Given the description of an element on the screen output the (x, y) to click on. 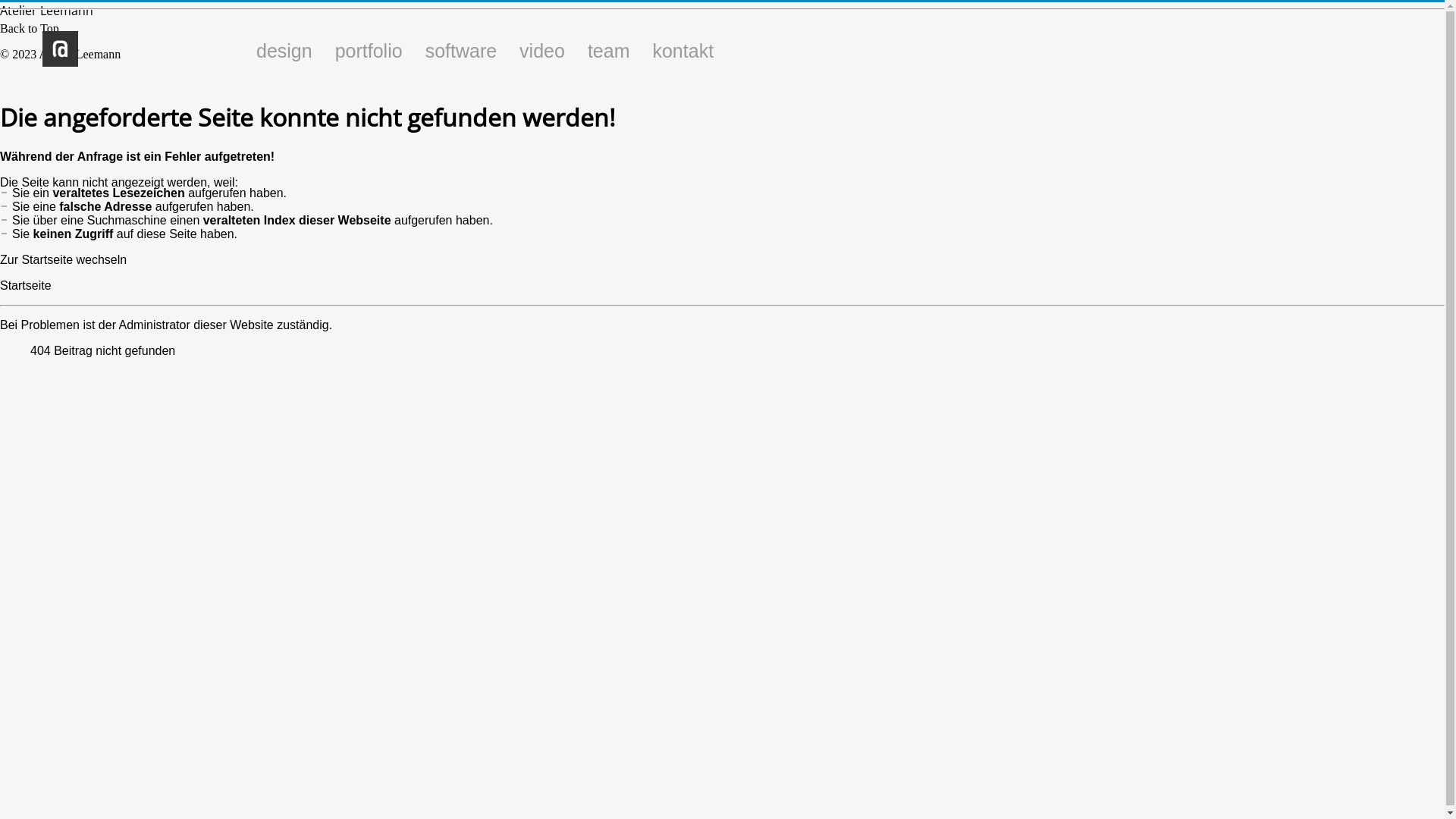
design Element type: text (284, 50)
Startseite Element type: text (25, 285)
Atelier Leemann Element type: text (46, 10)
kontakt Element type: text (682, 50)
portfolio Element type: text (368, 50)
video Element type: text (541, 50)
Back to Top Element type: text (29, 27)
software Element type: text (460, 50)
team Element type: text (608, 50)
